Given the description of an element on the screen output the (x, y) to click on. 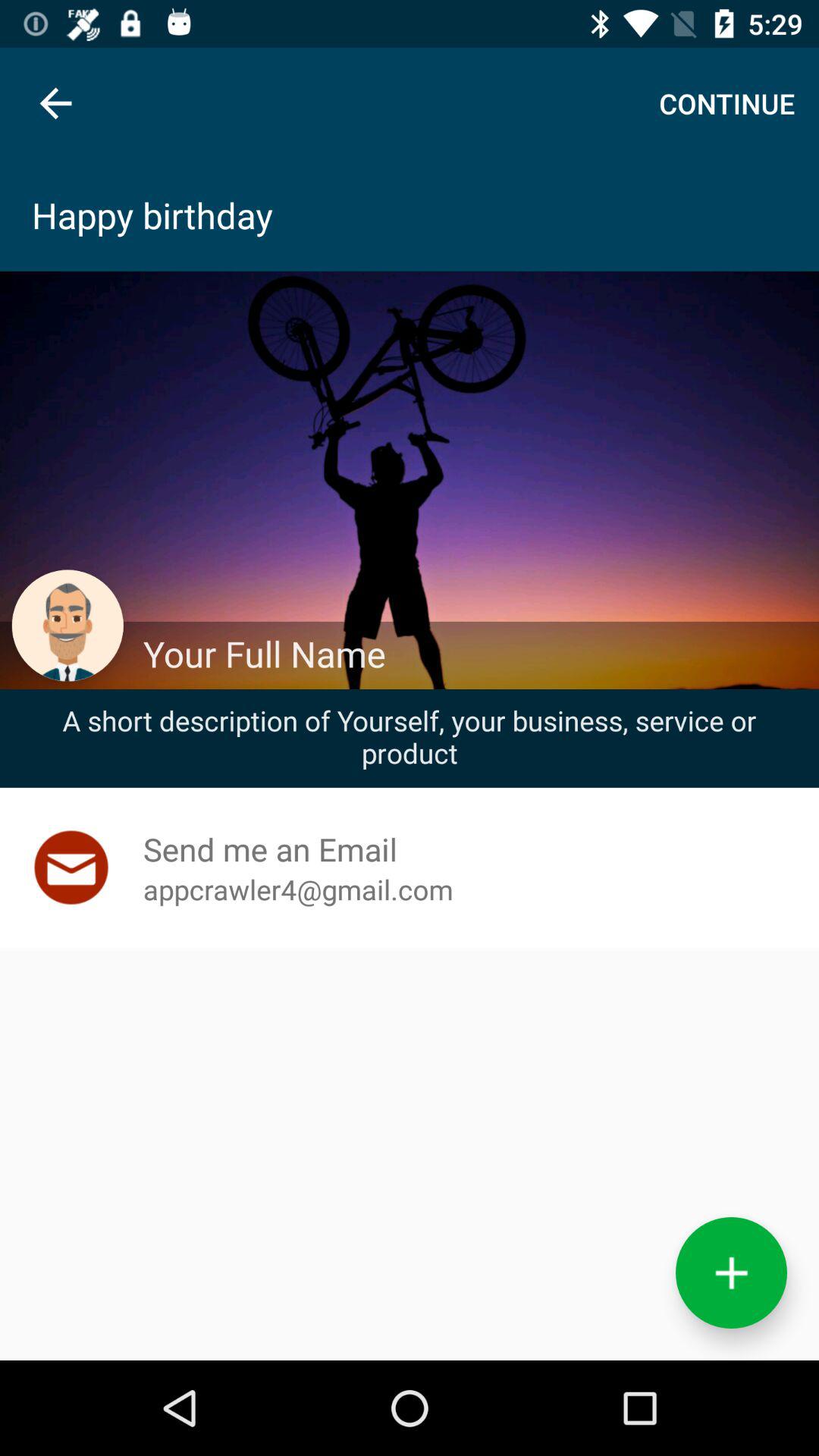
jump until the continue (727, 103)
